Given the description of an element on the screen output the (x, y) to click on. 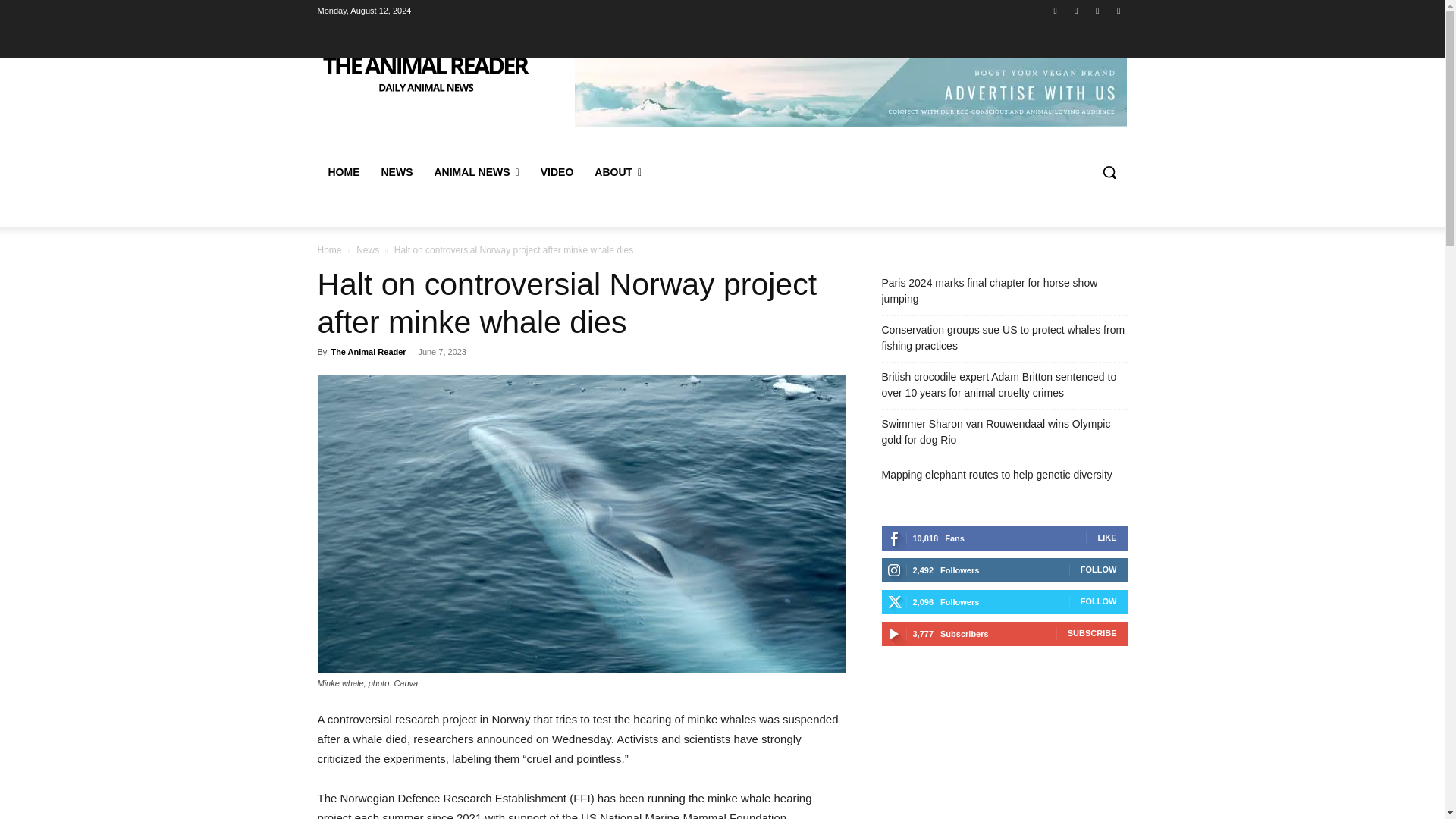
Instagram (1075, 9)
HOME (343, 171)
Twitter (1097, 9)
NEWS (396, 171)
Youtube (1117, 9)
Facebook (1055, 9)
VIDEO (557, 171)
View all posts in News (367, 249)
ANIMAL NEWS (476, 171)
